Given the description of an element on the screen output the (x, y) to click on. 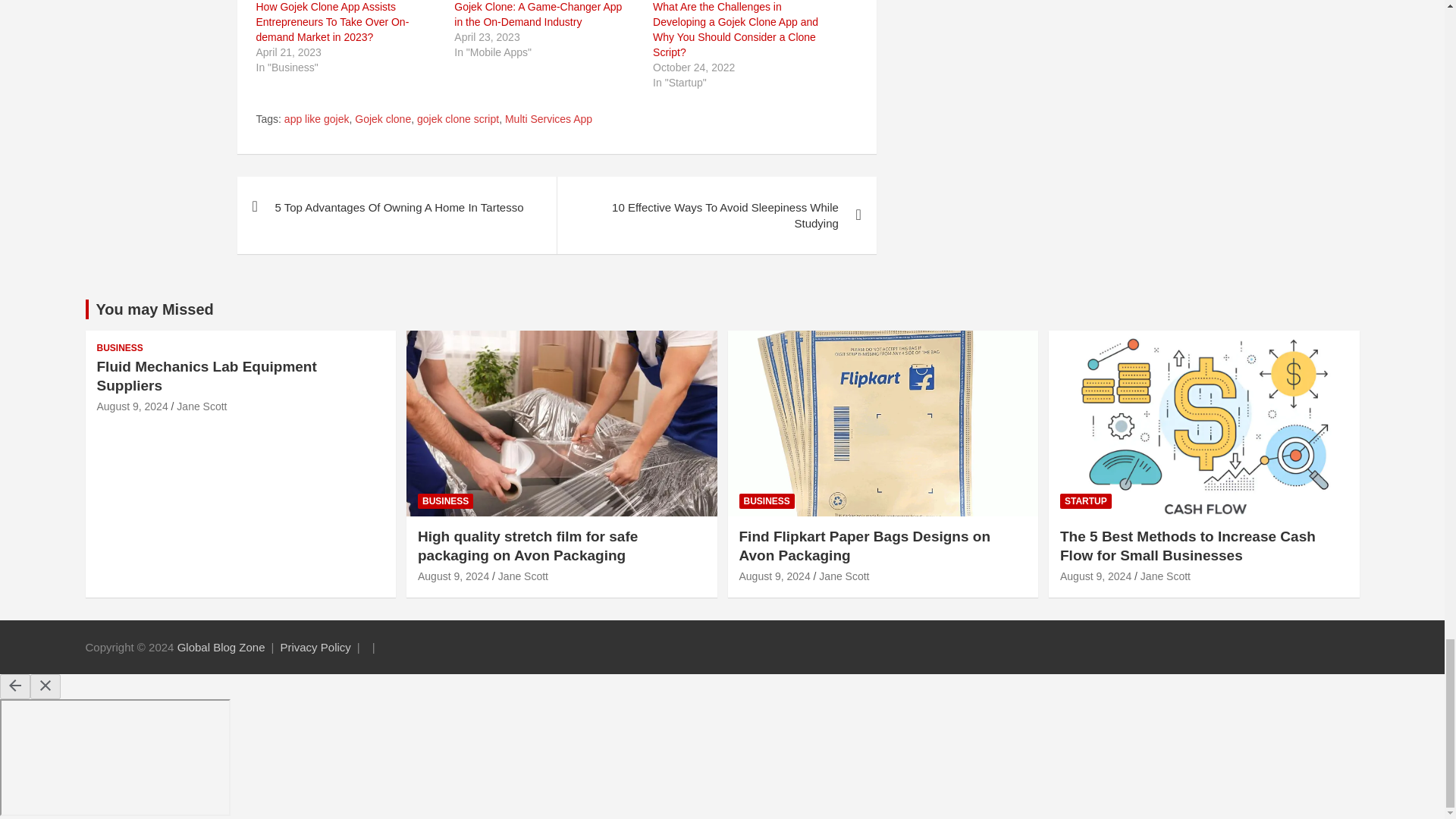
gojek clone script (457, 119)
app like gojek (316, 119)
Fluid Mechanics Lab Equipment Suppliers (132, 406)
Gojek clone (382, 119)
Gojek Clone: A Game-Changer App in the On-Demand Industry (537, 13)
